Given the description of an element on the screen output the (x, y) to click on. 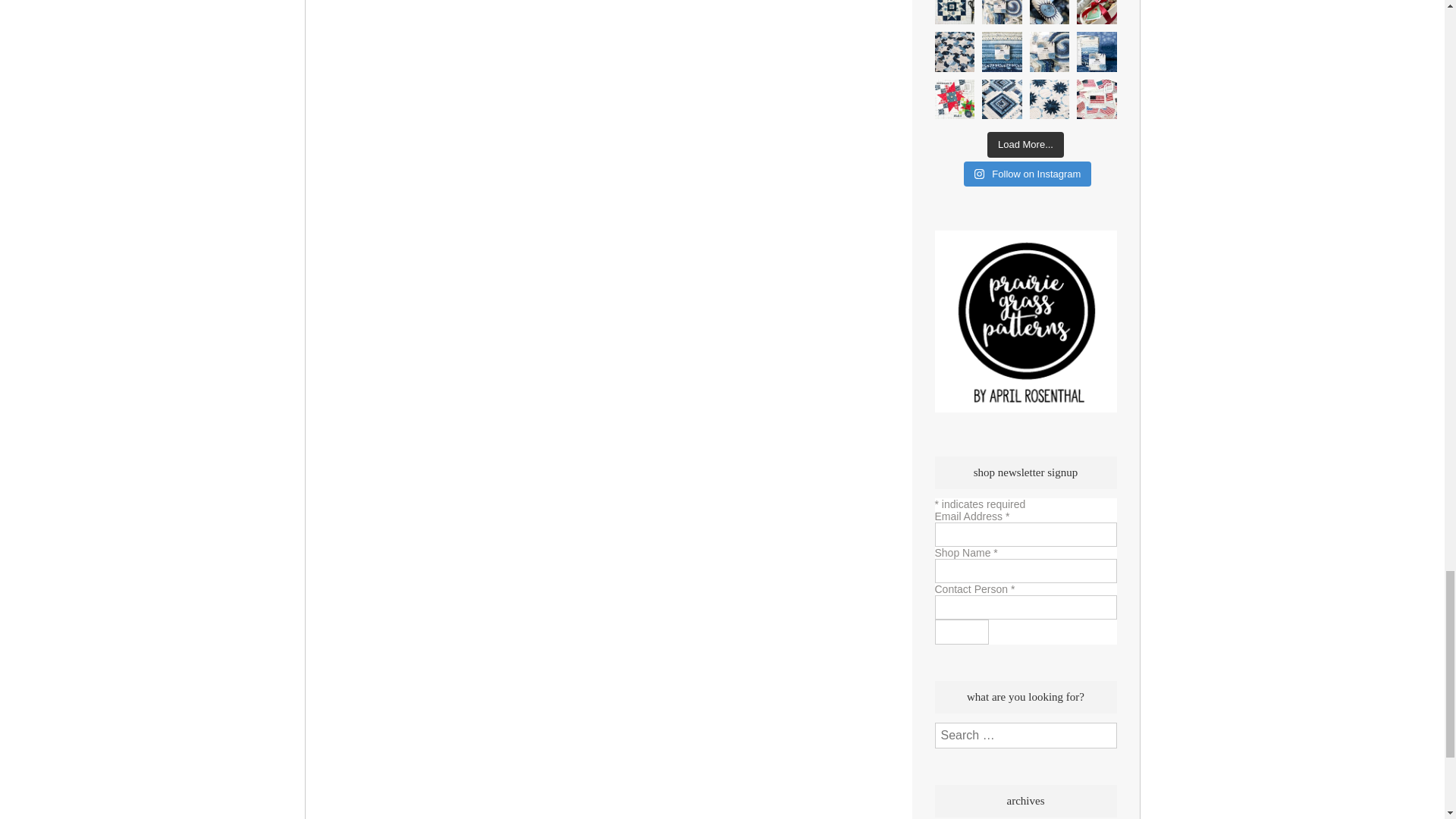
Subscribe (961, 631)
